Given the description of an element on the screen output the (x, y) to click on. 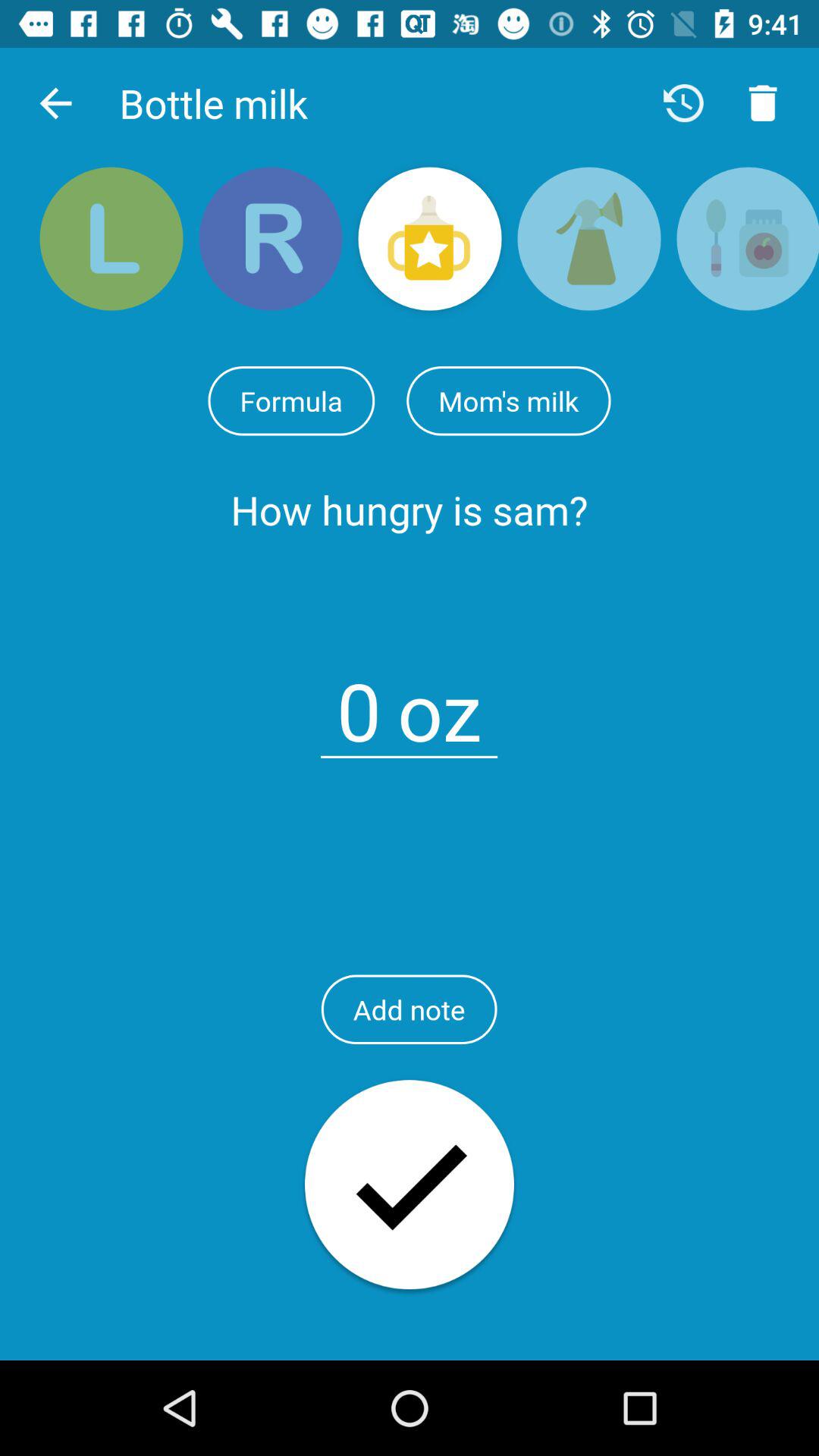
turn off the add note (409, 1009)
